Given the description of an element on the screen output the (x, y) to click on. 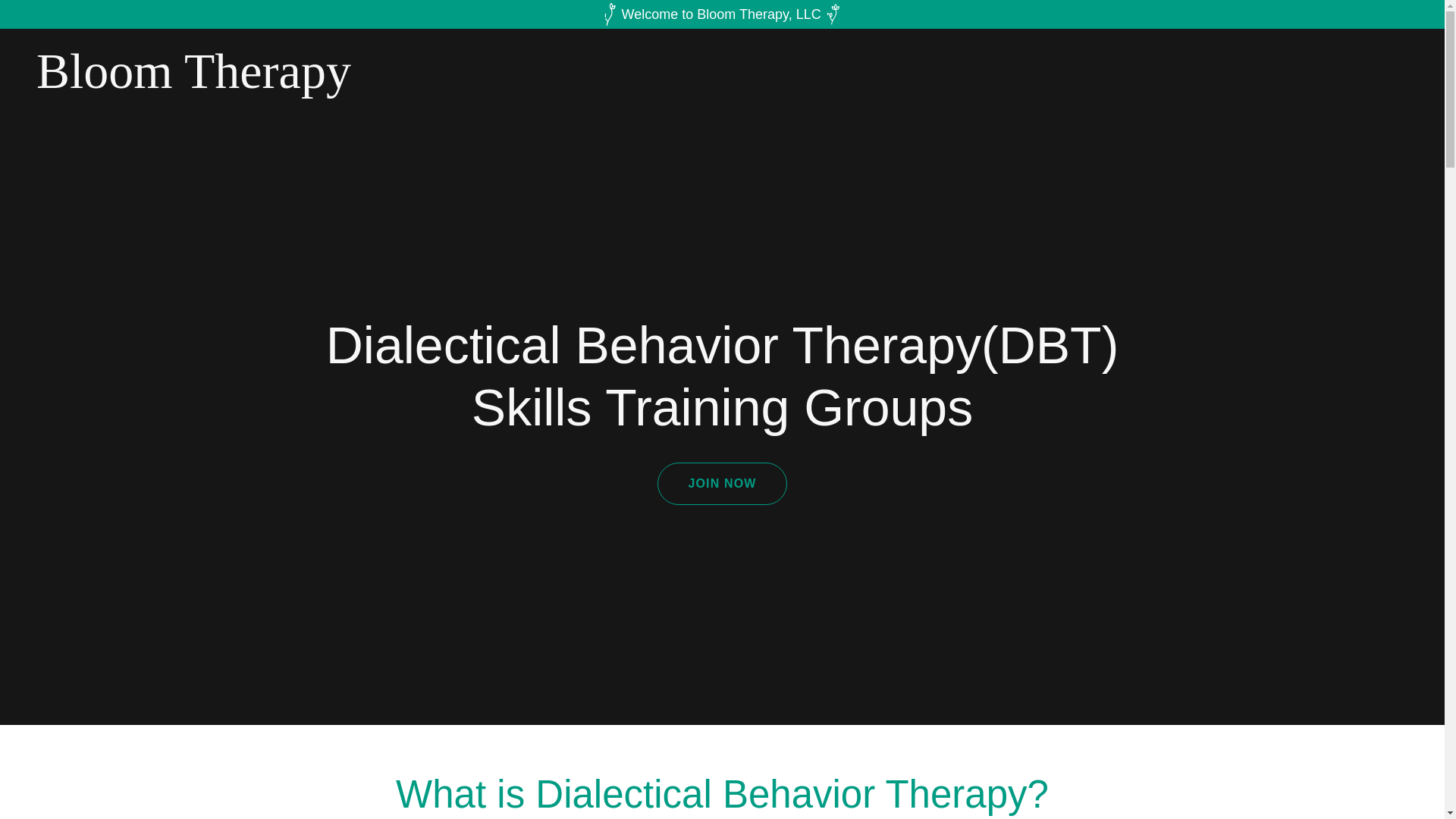
Bloom Therapy  (276, 83)
JOIN NOW (721, 483)
Bloom Therapy (276, 83)
